Given the description of an element on the screen output the (x, y) to click on. 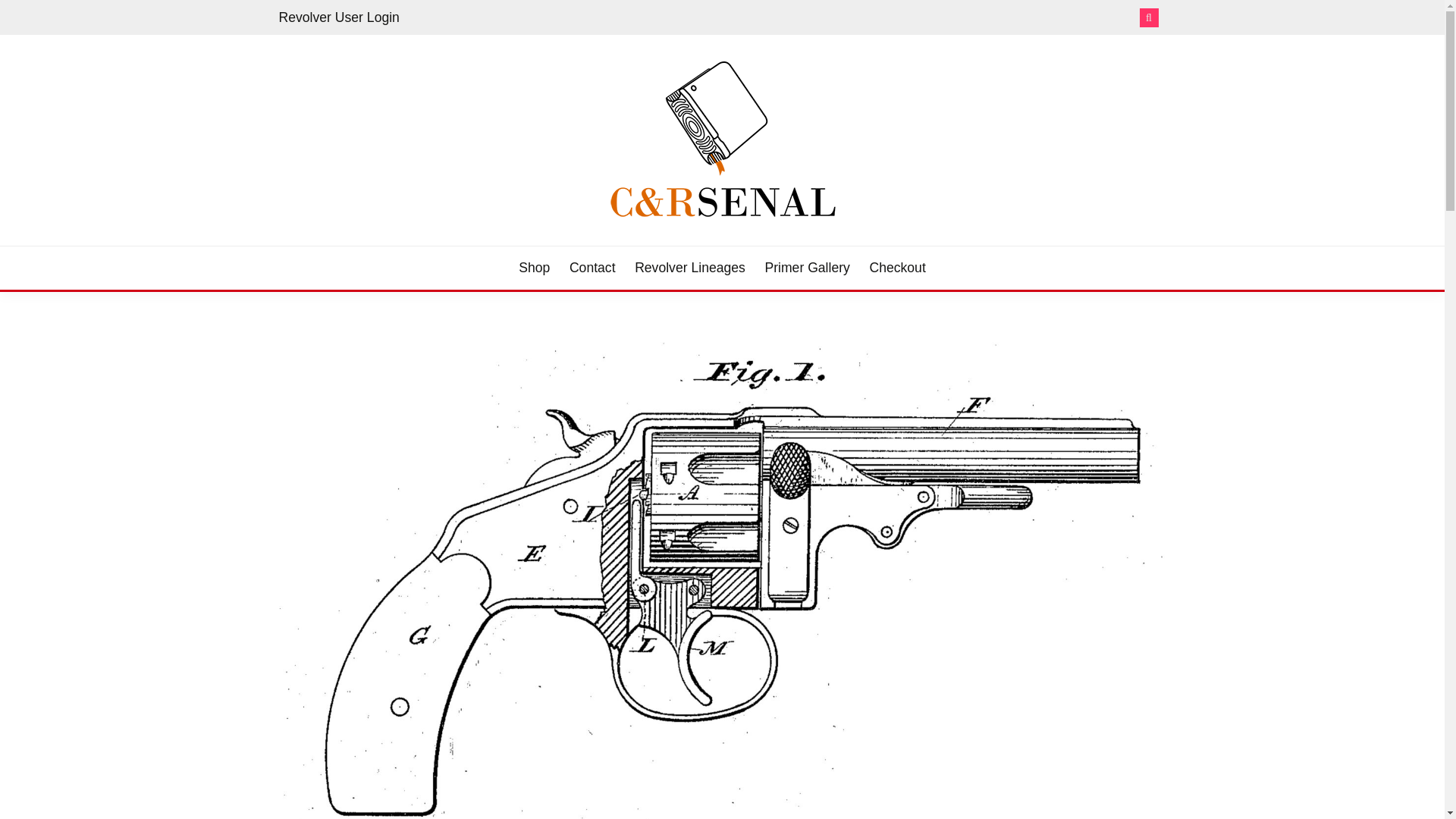
Shop (534, 267)
Revolver Lineages (689, 267)
Checkout (896, 267)
Primer Gallery (806, 267)
Revolver User Login (338, 17)
Search (832, 18)
Contact (592, 267)
